Given the description of an element on the screen output the (x, y) to click on. 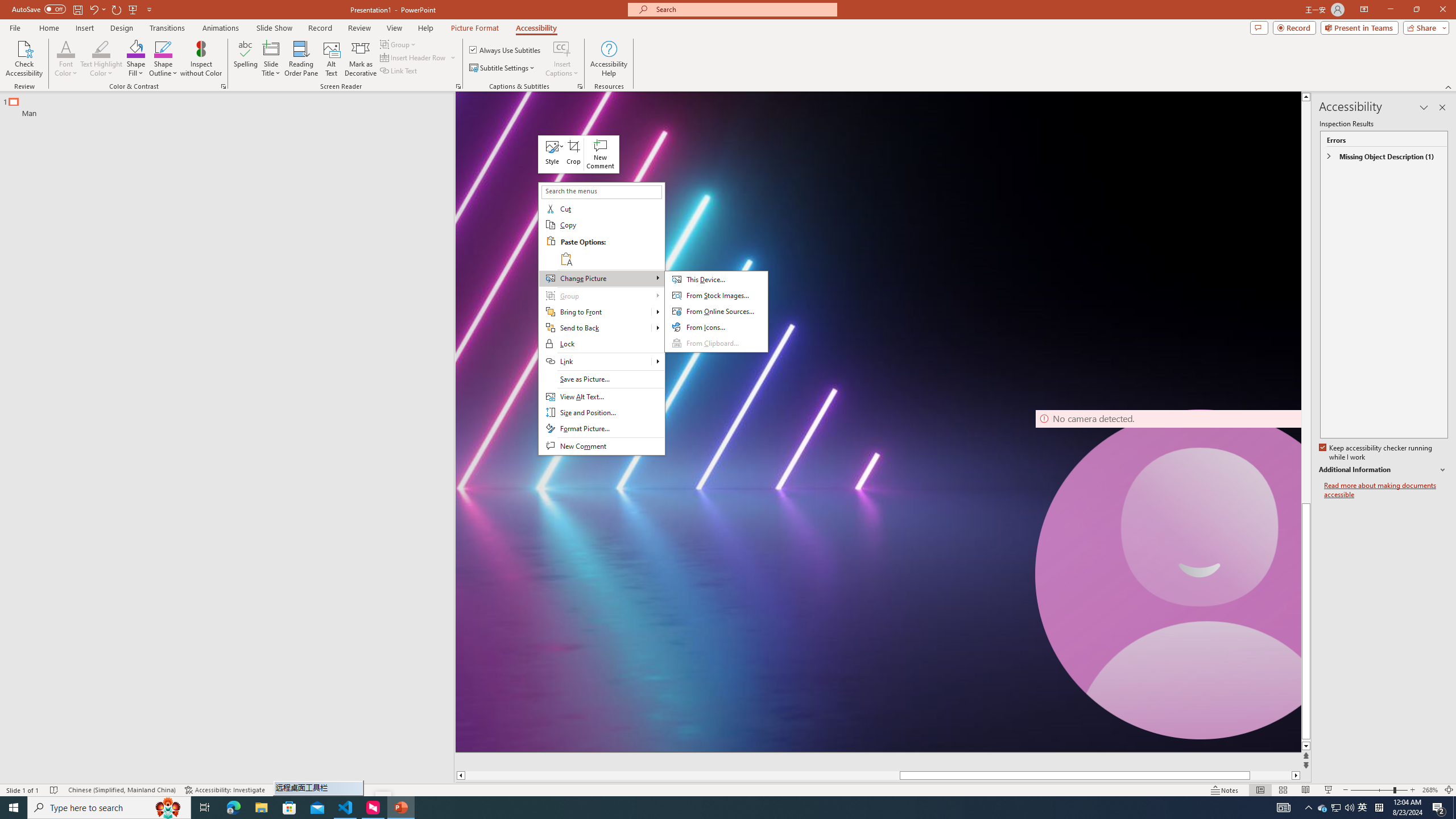
Reading Order Pane (301, 58)
Format Picture... (600, 428)
From Stock Images... (716, 295)
